Given the description of an element on the screen output the (x, y) to click on. 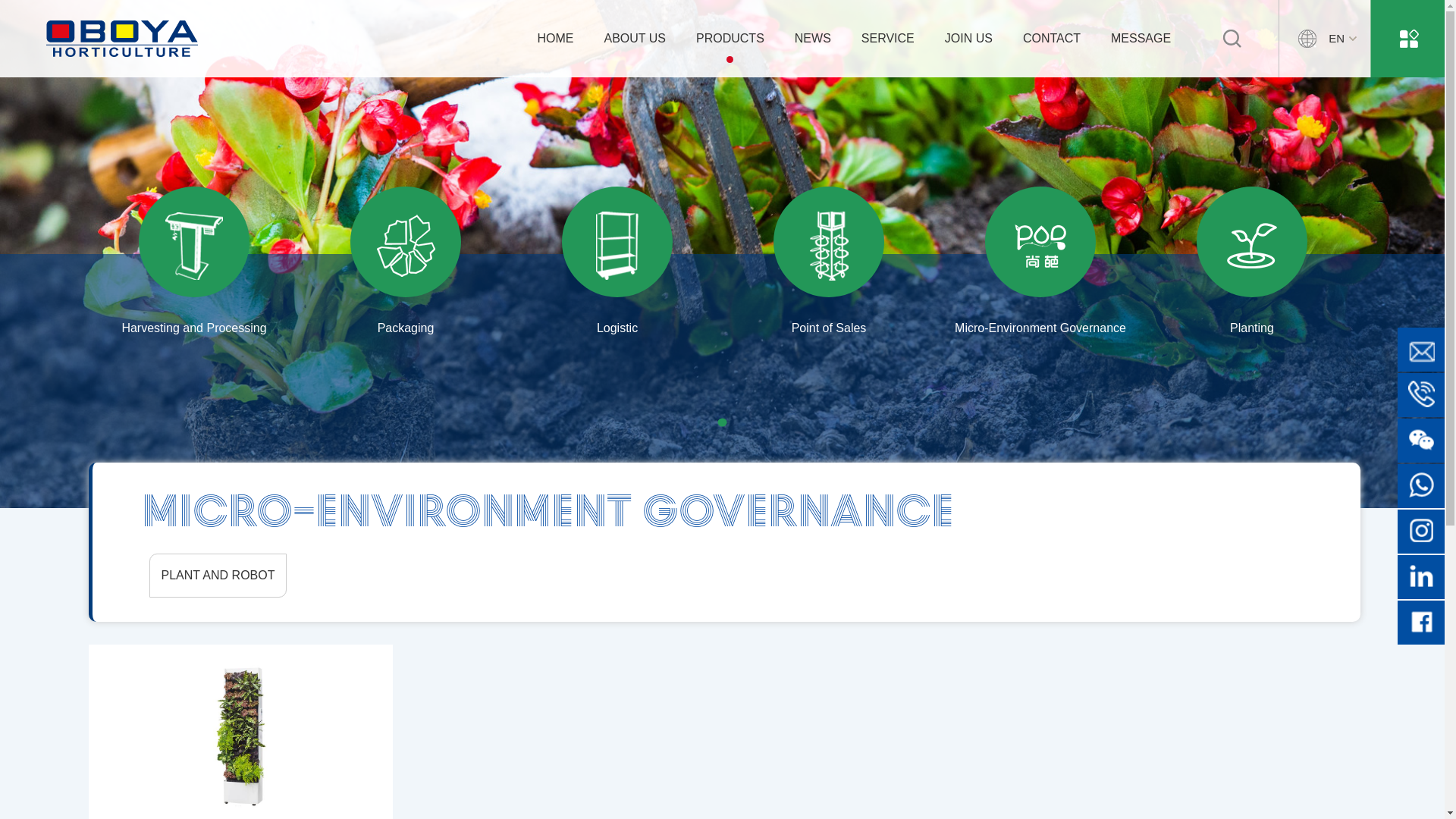
EN Element type: text (1324, 38)
HOME Element type: text (555, 37)
Micro-Environment Governance Element type: text (1039, 250)
Point of Sales Element type: text (829, 250)
Packaging Element type: text (405, 250)
EN Element type: text (1321, 38)
Planting Element type: text (1252, 250)
Logistic Element type: text (616, 250)
SERVICE Element type: text (887, 37)
JOIN US Element type: text (968, 37)
PRODUCTS Element type: text (730, 37)
ABOUT US Element type: text (635, 37)
Harvesting and Processing Element type: text (193, 250)
NEWS Element type: text (812, 37)
PLANT AND ROBOT Element type: text (217, 575)
MESSAGE Element type: text (1140, 37)
CONTACT Element type: text (1051, 37)
